Given the description of an element on the screen output the (x, y) to click on. 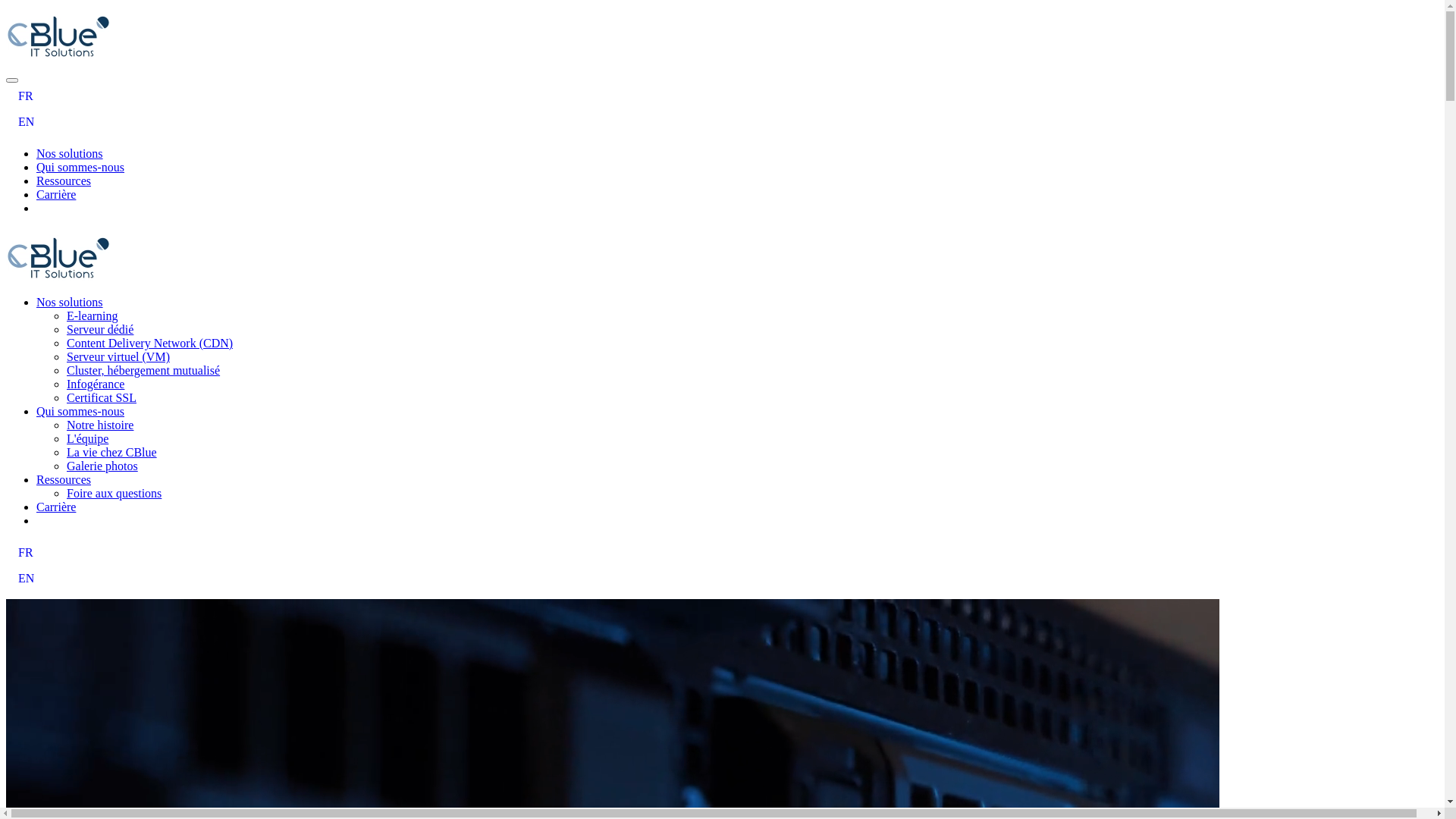
Ressources Element type: text (63, 180)
Contact Element type: text (55, 520)
Ressources Element type: text (63, 479)
Qui sommes-nous Element type: text (80, 166)
E-learning Element type: text (92, 315)
Contact Element type: text (55, 207)
La vie chez CBlue Element type: text (111, 451)
Galerie photos Element type: text (102, 465)
Nos solutions Element type: text (69, 153)
FR Element type: text (722, 552)
EN Element type: text (722, 121)
Content Delivery Network (CDN) Element type: text (149, 342)
Serveur virtuel (VM) Element type: text (117, 356)
Notre histoire Element type: text (99, 424)
Nos solutions Element type: text (69, 301)
EN Element type: text (722, 578)
Foire aux questions Element type: text (113, 492)
Certificat SSL Element type: text (101, 397)
FR Element type: text (722, 96)
Qui sommes-nous Element type: text (80, 410)
